Given the description of an element on the screen output the (x, y) to click on. 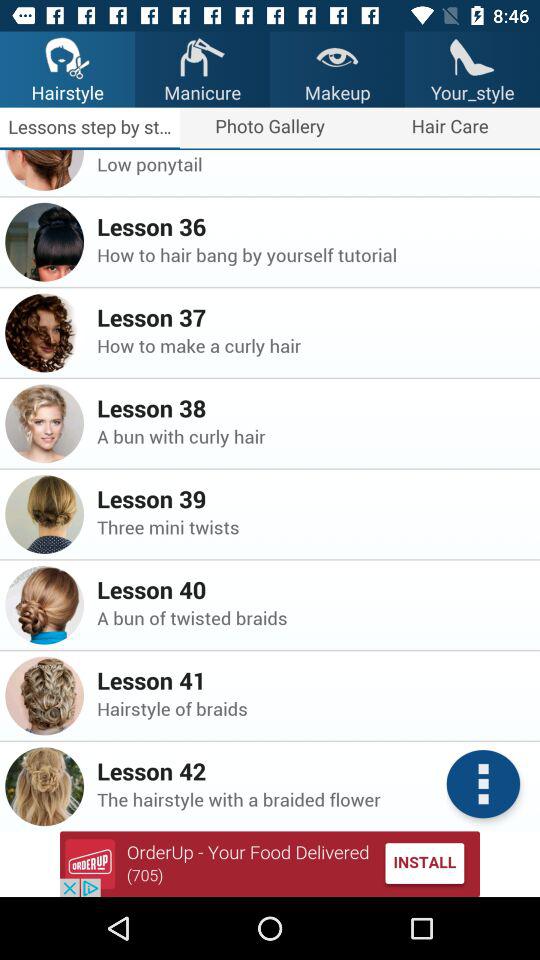
advertisement for app (270, 864)
